Given the description of an element on the screen output the (x, y) to click on. 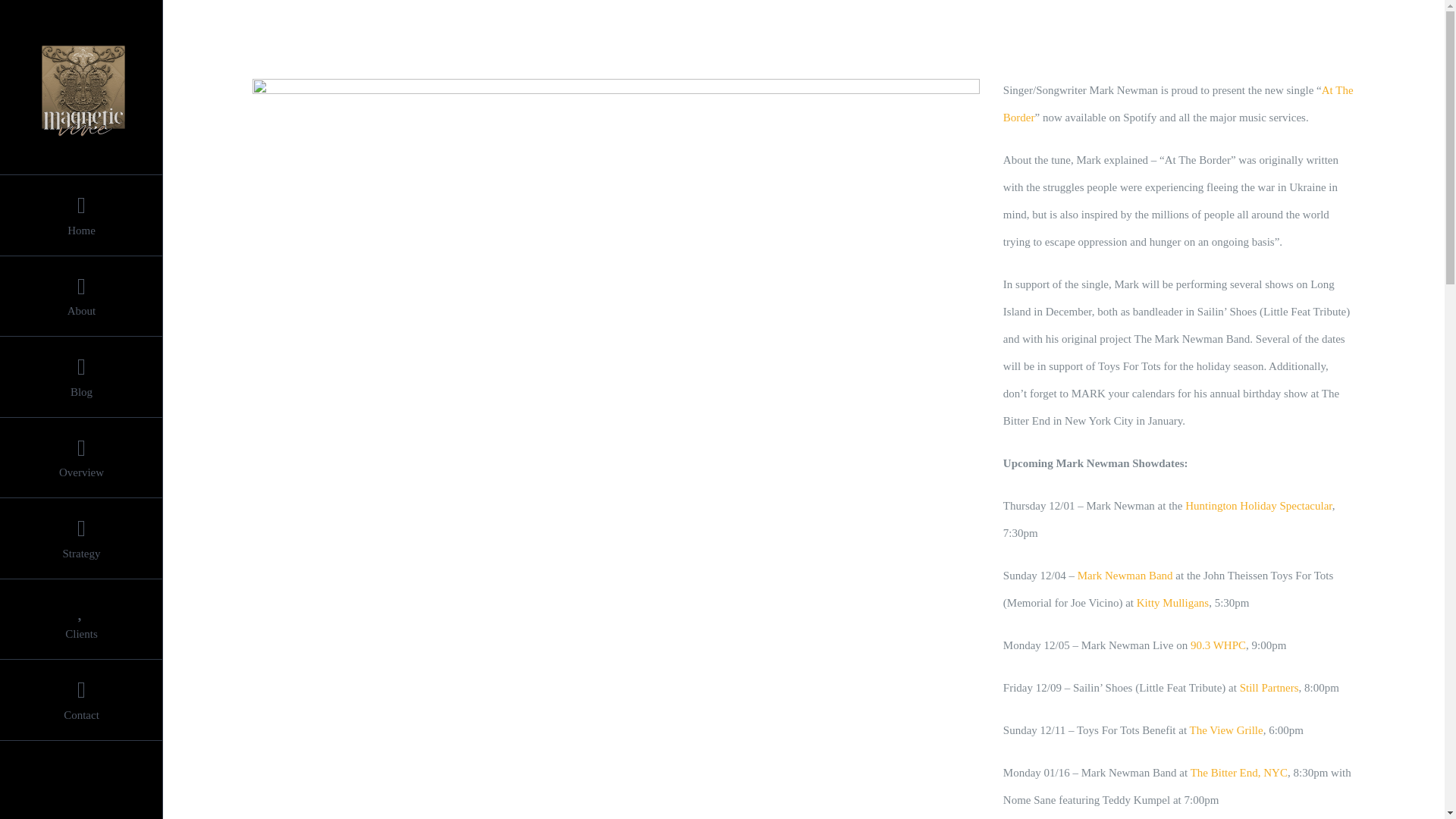
Overview (81, 456)
90.3 WHPC (1218, 645)
At The Border (1178, 103)
Clients (81, 619)
Home (81, 215)
Kitty Mulligans (1172, 603)
Mark Newman Band (1125, 575)
Strategy (81, 538)
About (81, 296)
Blog (81, 376)
The View Grille (1226, 729)
Still Partners (1269, 687)
Contact (81, 700)
The Bitter End, NYC (1239, 772)
Huntington Holiday Spectacular (1258, 505)
